Given the description of an element on the screen output the (x, y) to click on. 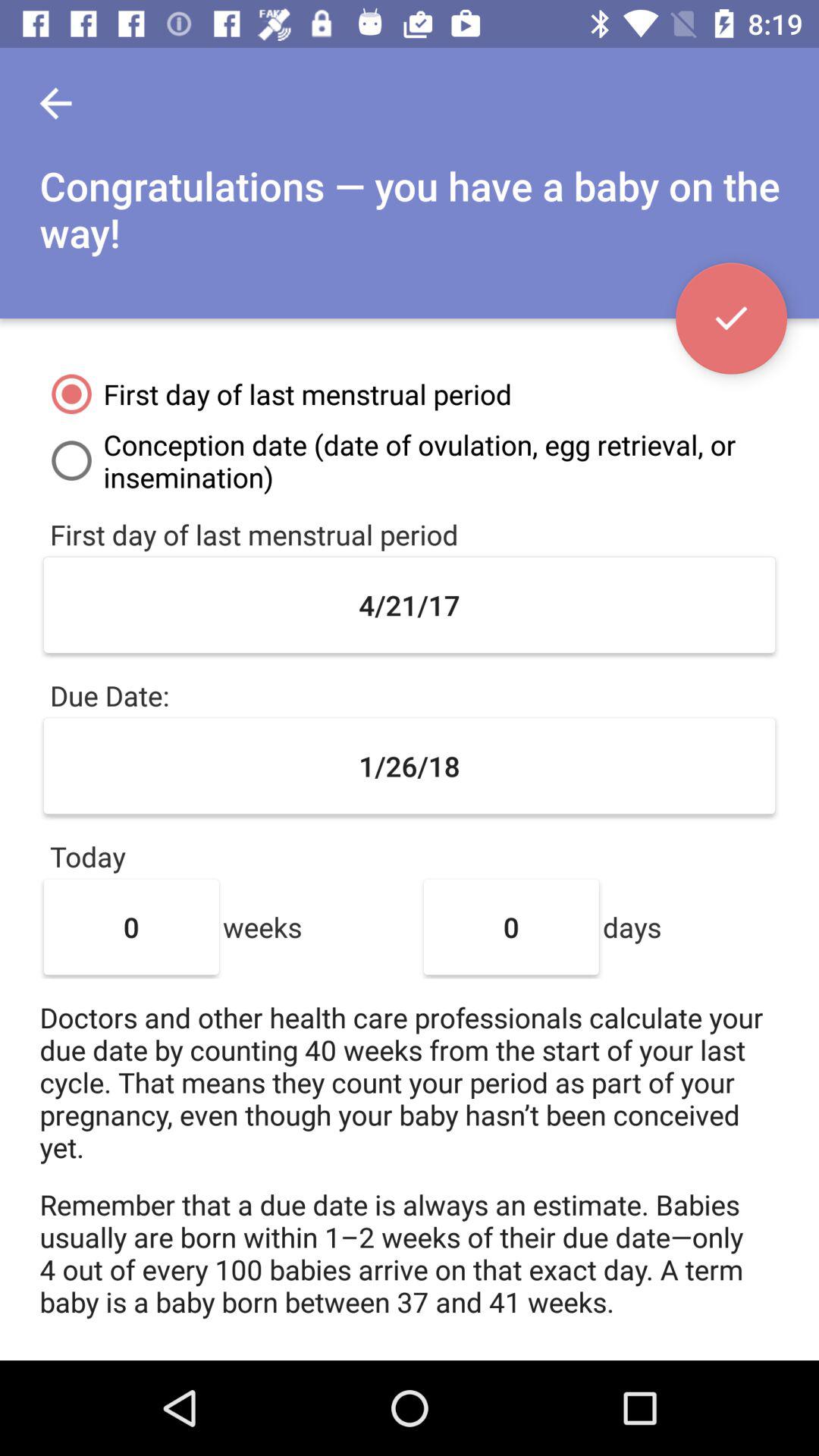
jump until the 1/26/18 icon (409, 765)
